Given the description of an element on the screen output the (x, y) to click on. 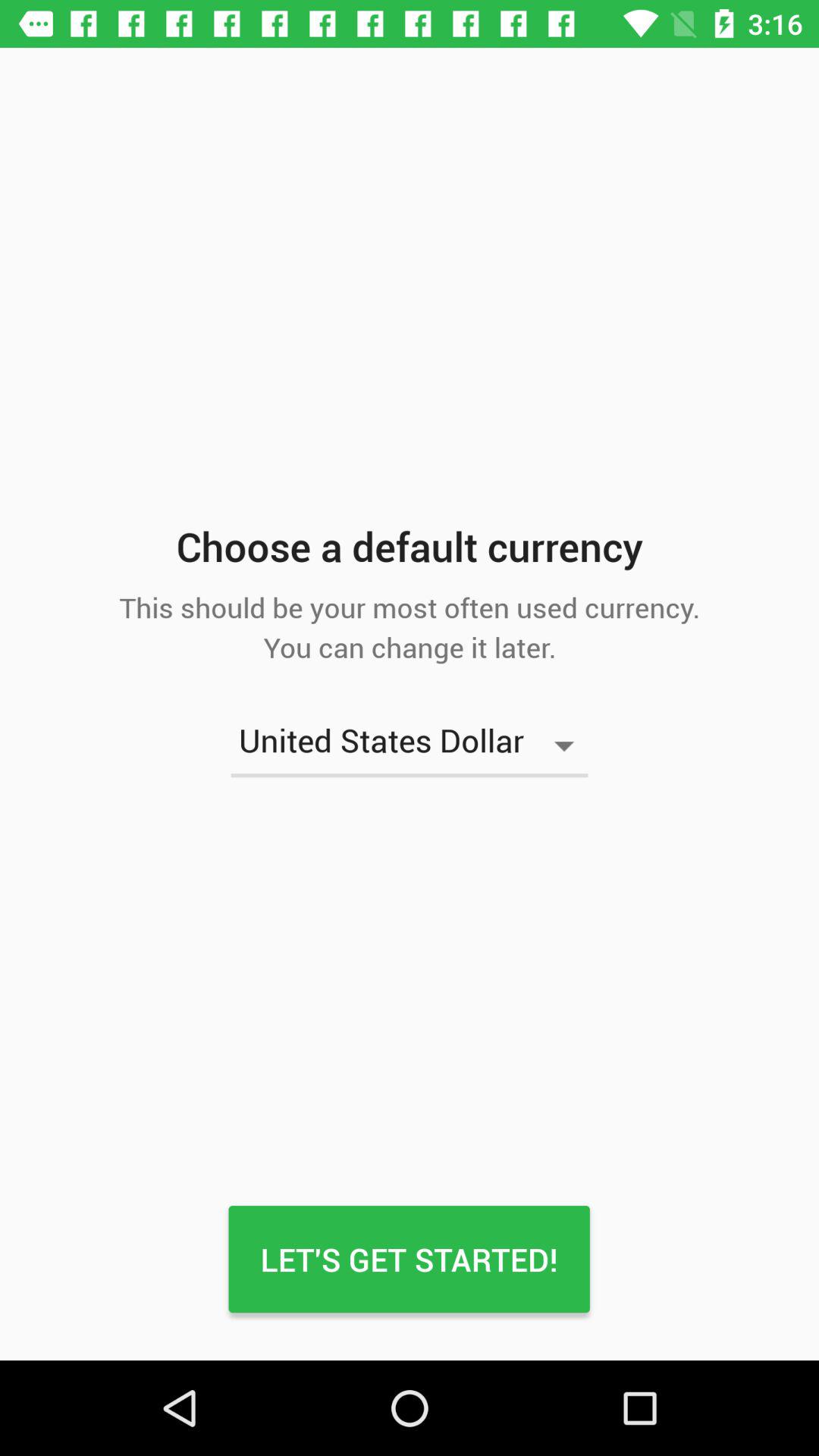
choose the let s get (408, 1258)
